Given the description of an element on the screen output the (x, y) to click on. 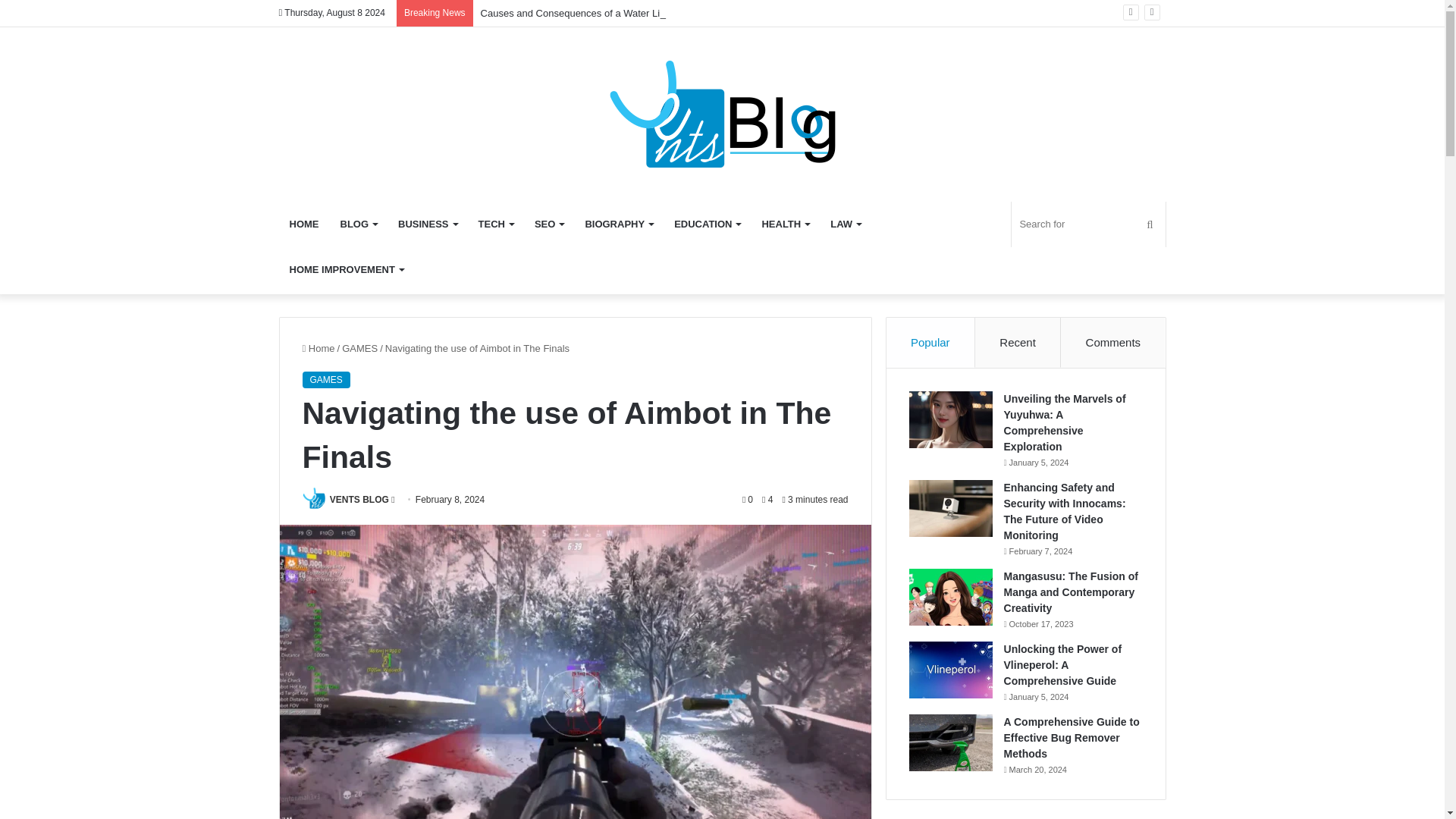
BLOG (358, 224)
Causes and Consequences of a Water Line Leak in Your Home (618, 12)
GAMES (359, 348)
GAMES (325, 379)
Your Vents, Your Comfort, Our Priority. (721, 114)
Home (317, 348)
Search for (1087, 224)
HOME IMPROVEMENT (346, 269)
VENTS BLOG (359, 499)
SEO (548, 224)
